Given the description of an element on the screen output the (x, y) to click on. 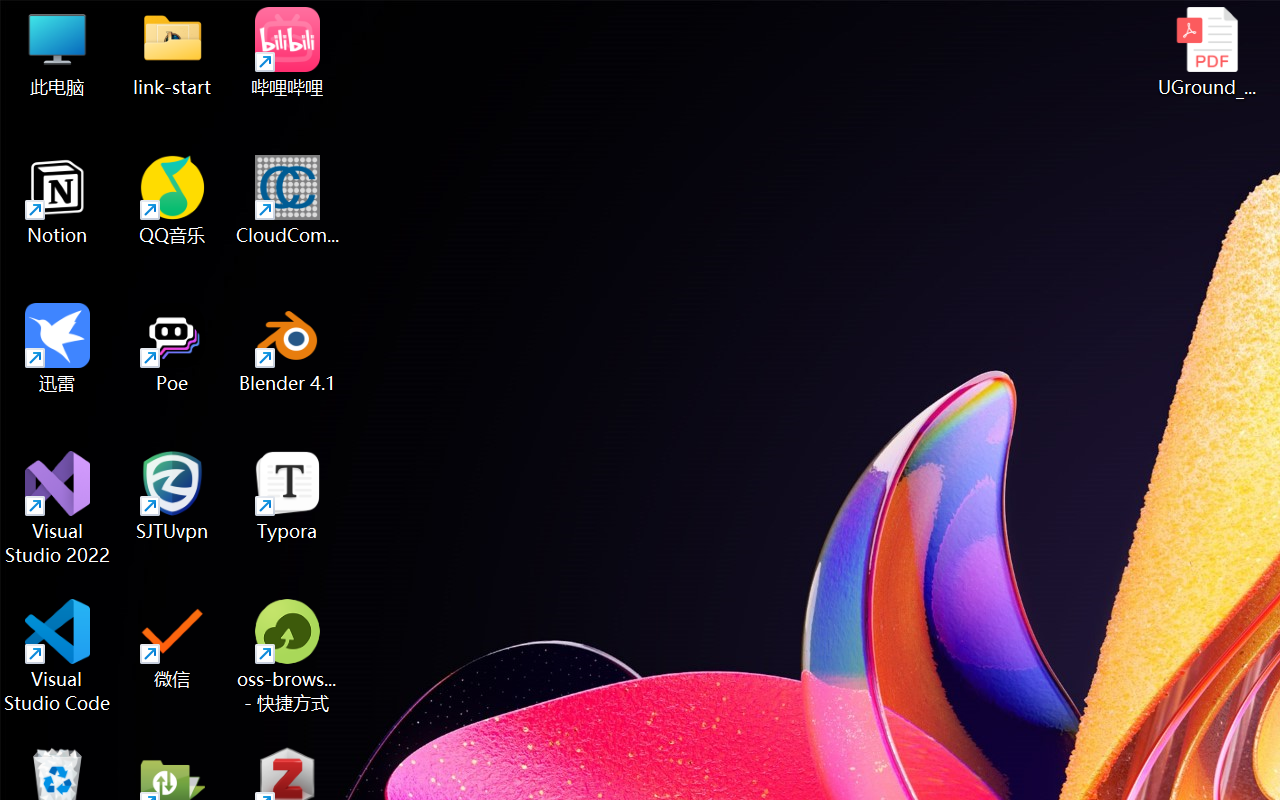
CloudCompare (287, 200)
Visual Studio Code (57, 656)
Typora (287, 496)
SJTUvpn (172, 496)
Visual Studio 2022 (57, 508)
Blender 4.1 (287, 348)
UGround_paper.pdf (1206, 52)
